Given the description of an element on the screen output the (x, y) to click on. 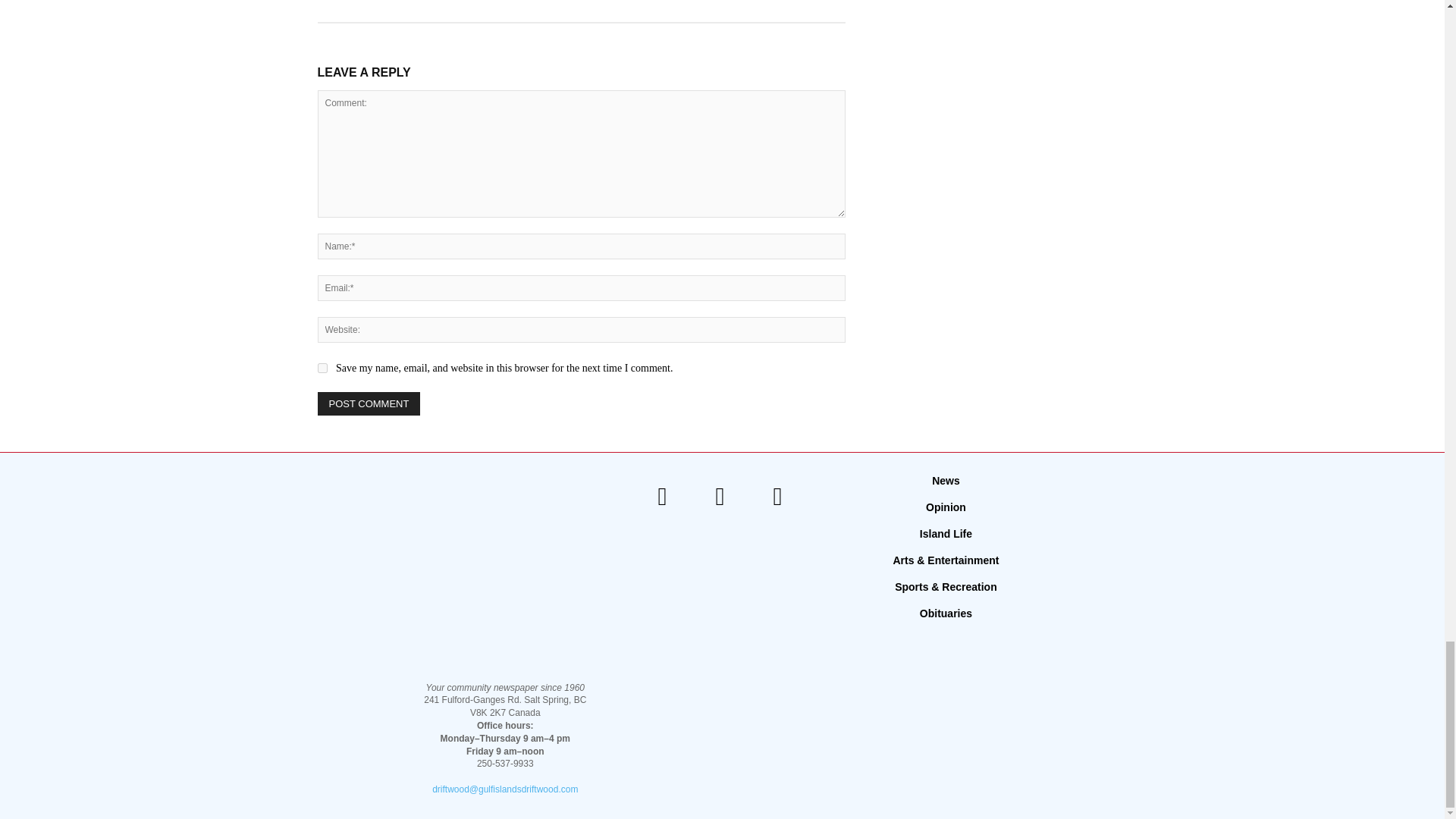
yes (321, 368)
Post Comment (368, 403)
